Given the description of an element on the screen output the (x, y) to click on. 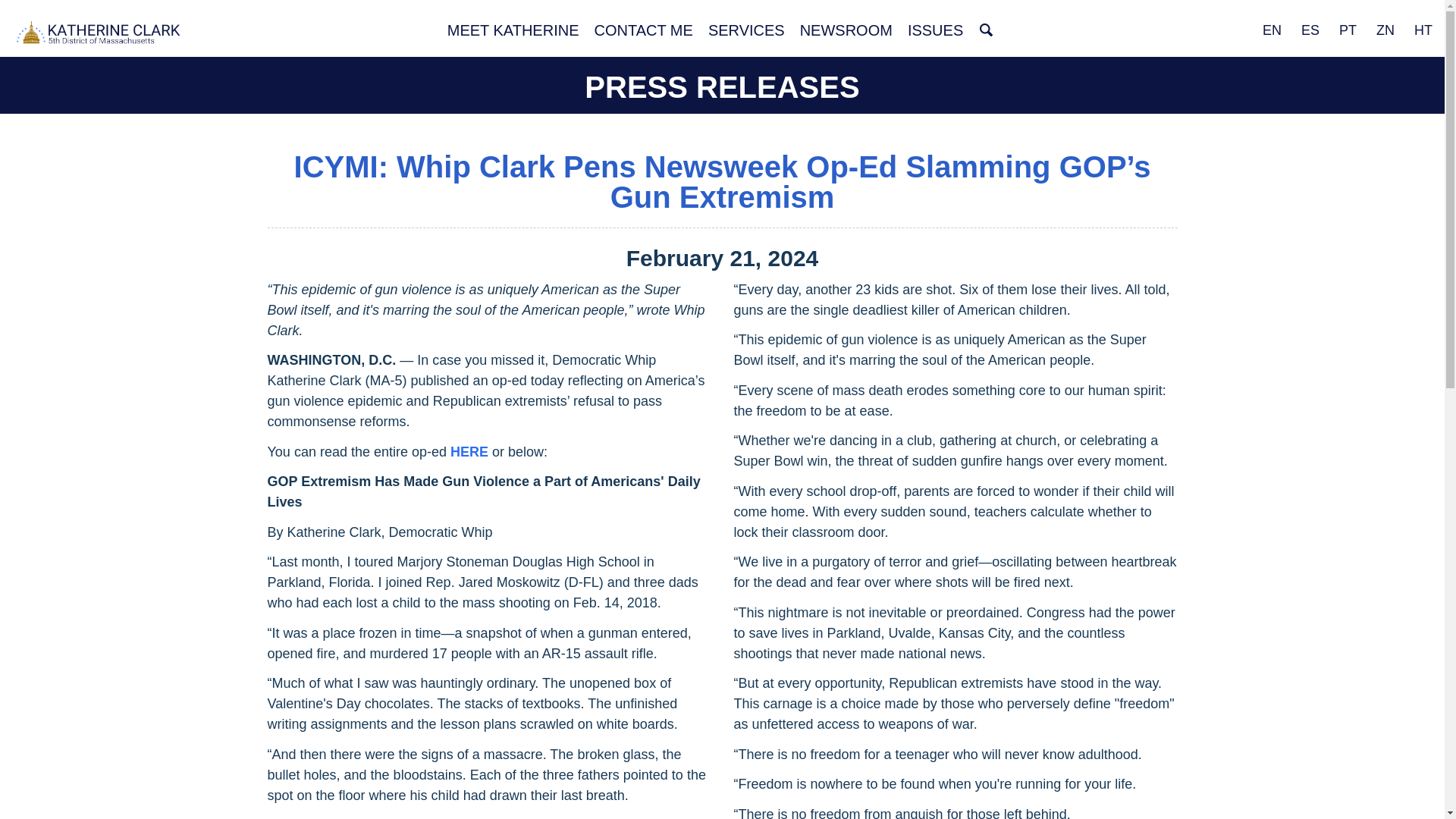
MEET KATHERINE (512, 30)
SERVICES (746, 30)
CONGRESSWOMAN KATHERINE CLARK (98, 34)
ES (1310, 30)
NEWSROOM (845, 30)
CONTACT ME (643, 30)
ISSUES (935, 30)
EN (1271, 30)
